Given the description of an element on the screen output the (x, y) to click on. 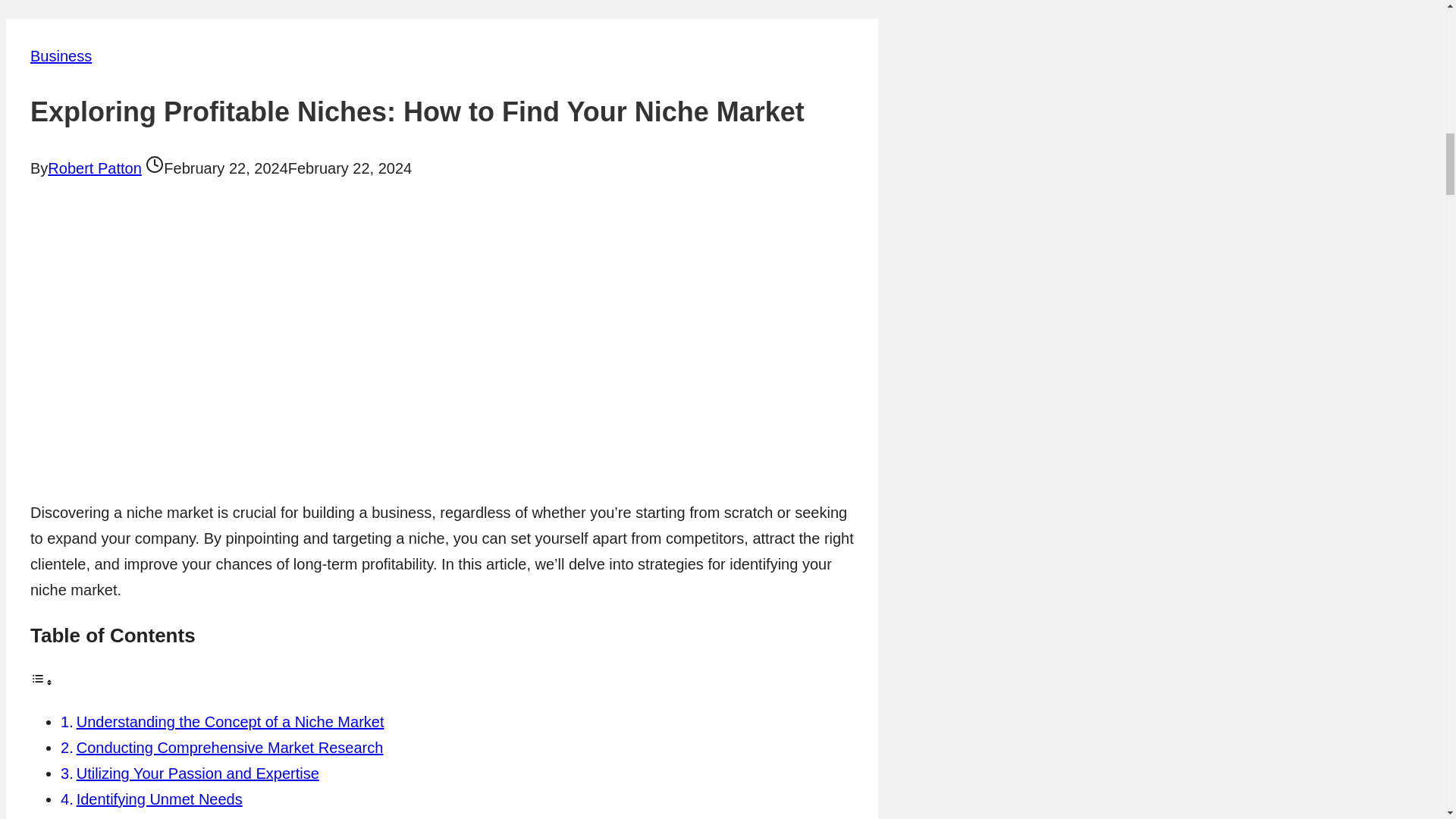
Identifying Unmet Needs (160, 799)
Assessing Competition (153, 817)
Conducting Comprehensive Market Research (230, 747)
Hours (154, 164)
Utilizing Your Passion and Expertise (197, 773)
Understanding the Concept of a Niche Market (230, 721)
